Given the description of an element on the screen output the (x, y) to click on. 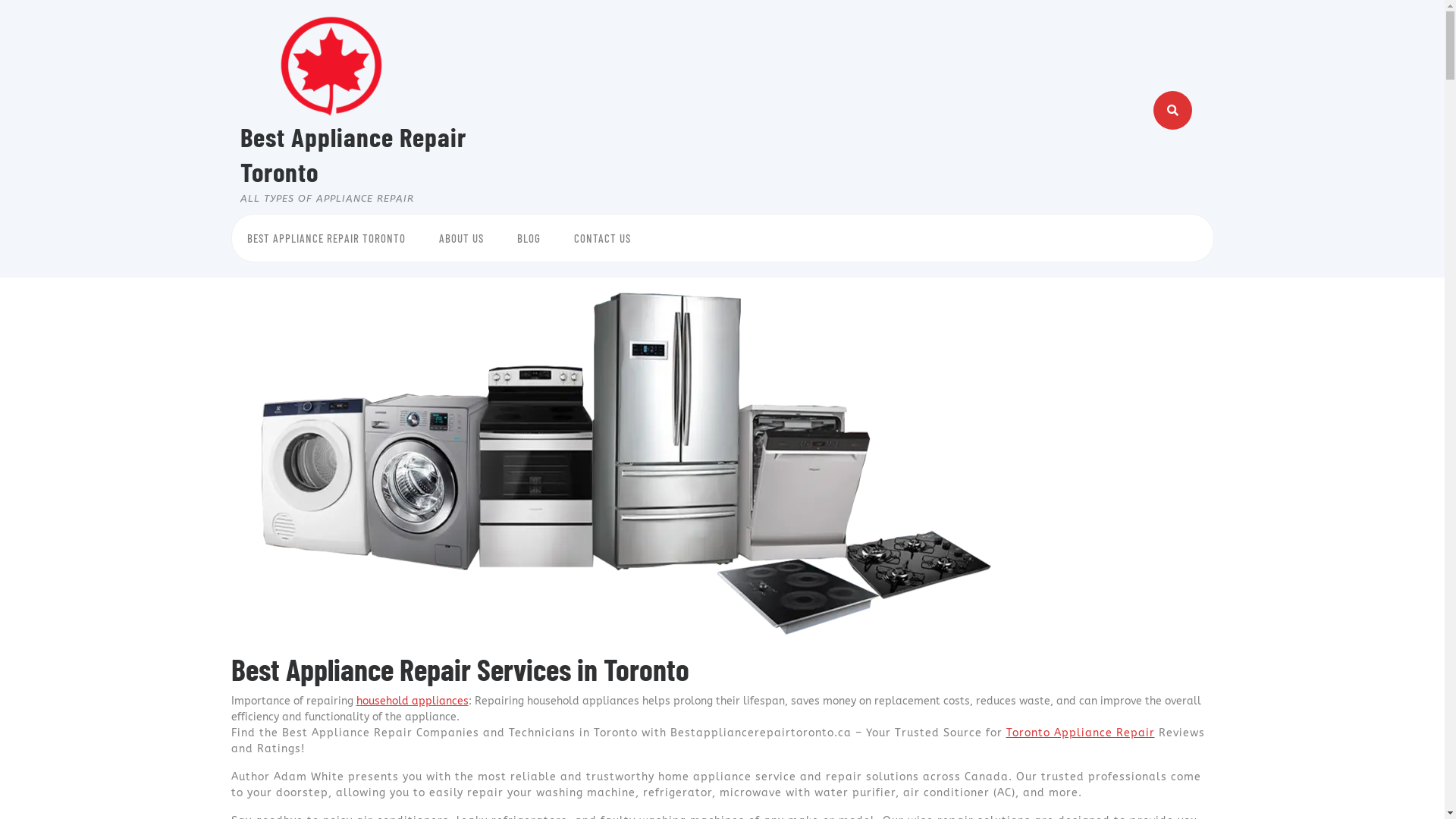
CONTACT US Element type: text (601, 237)
household appliances Element type: text (412, 700)
BLOG Element type: text (528, 237)
Toronto Appliance Repair Element type: text (1079, 732)
ABOUT US Element type: text (460, 237)
Best Appliance Repair Toronto Element type: text (352, 153)
BEST APPLIANCE REPAIR TORONTO Element type: text (326, 237)
